Given the description of an element on the screen output the (x, y) to click on. 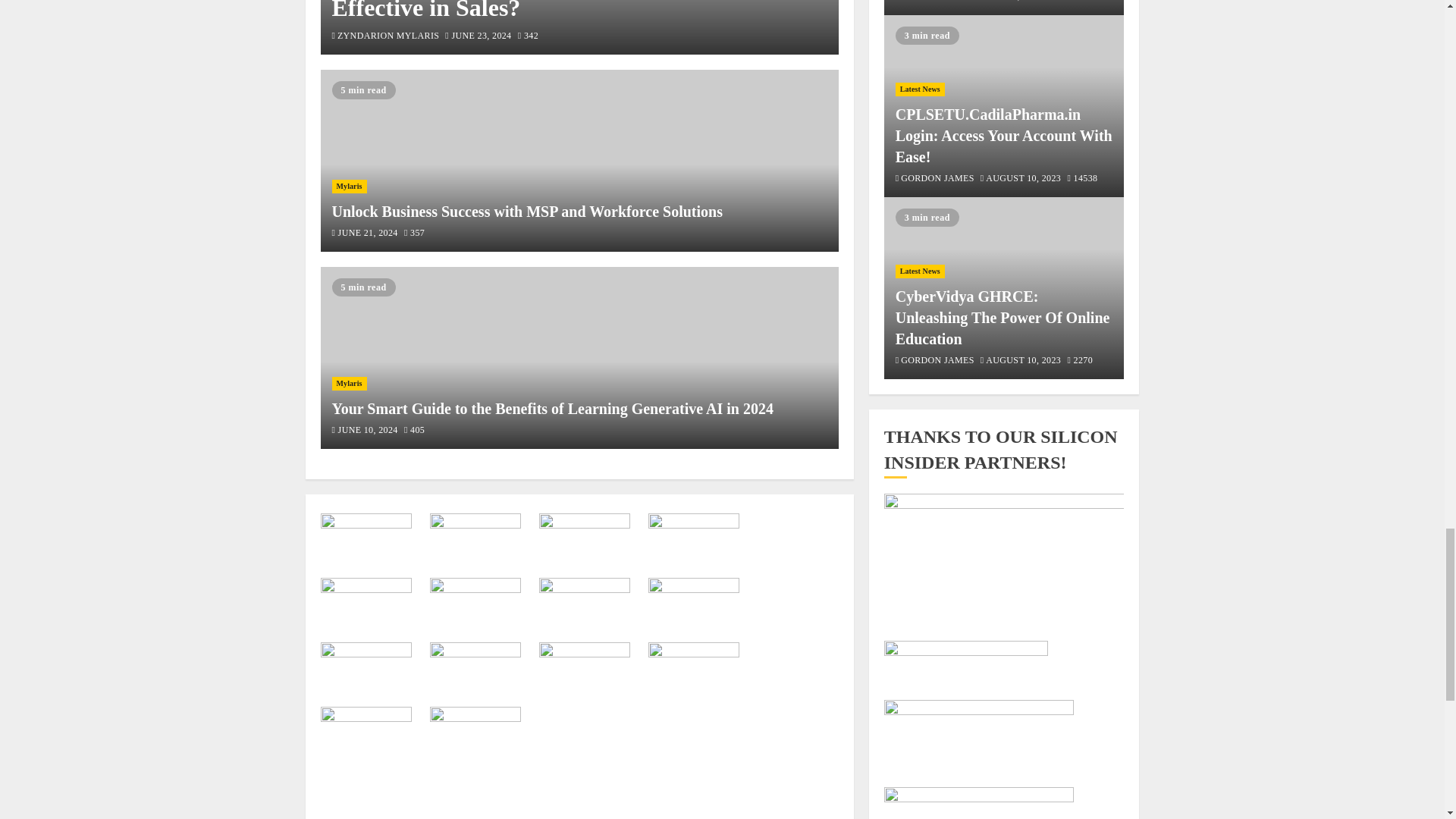
Unlock Business Success with MSP and Workforce Solutions (579, 160)
